Given the description of an element on the screen output the (x, y) to click on. 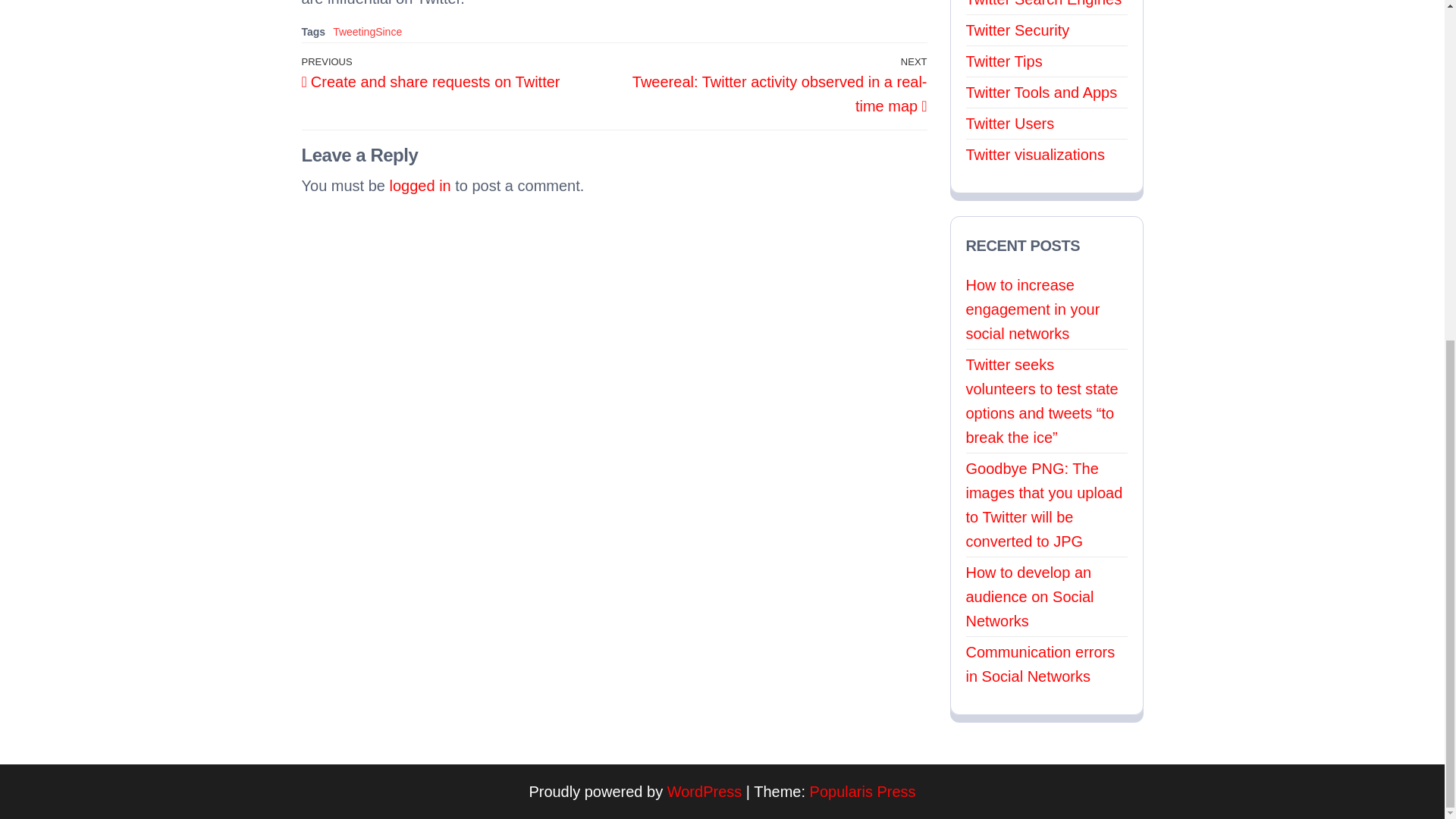
Twitter Tips (1004, 61)
Twitter Security (1018, 30)
Twitter Search Engines (457, 72)
logged in (1044, 3)
Communication errors in Social Networks (420, 185)
Twitter Tools and Apps (1040, 663)
TweetingSince (1042, 92)
Twitter Users (367, 31)
Popularis Press (1010, 123)
WordPress (862, 791)
Twitter visualizations (704, 791)
How to increase engagement in your social networks (1035, 154)
